Given the description of an element on the screen output the (x, y) to click on. 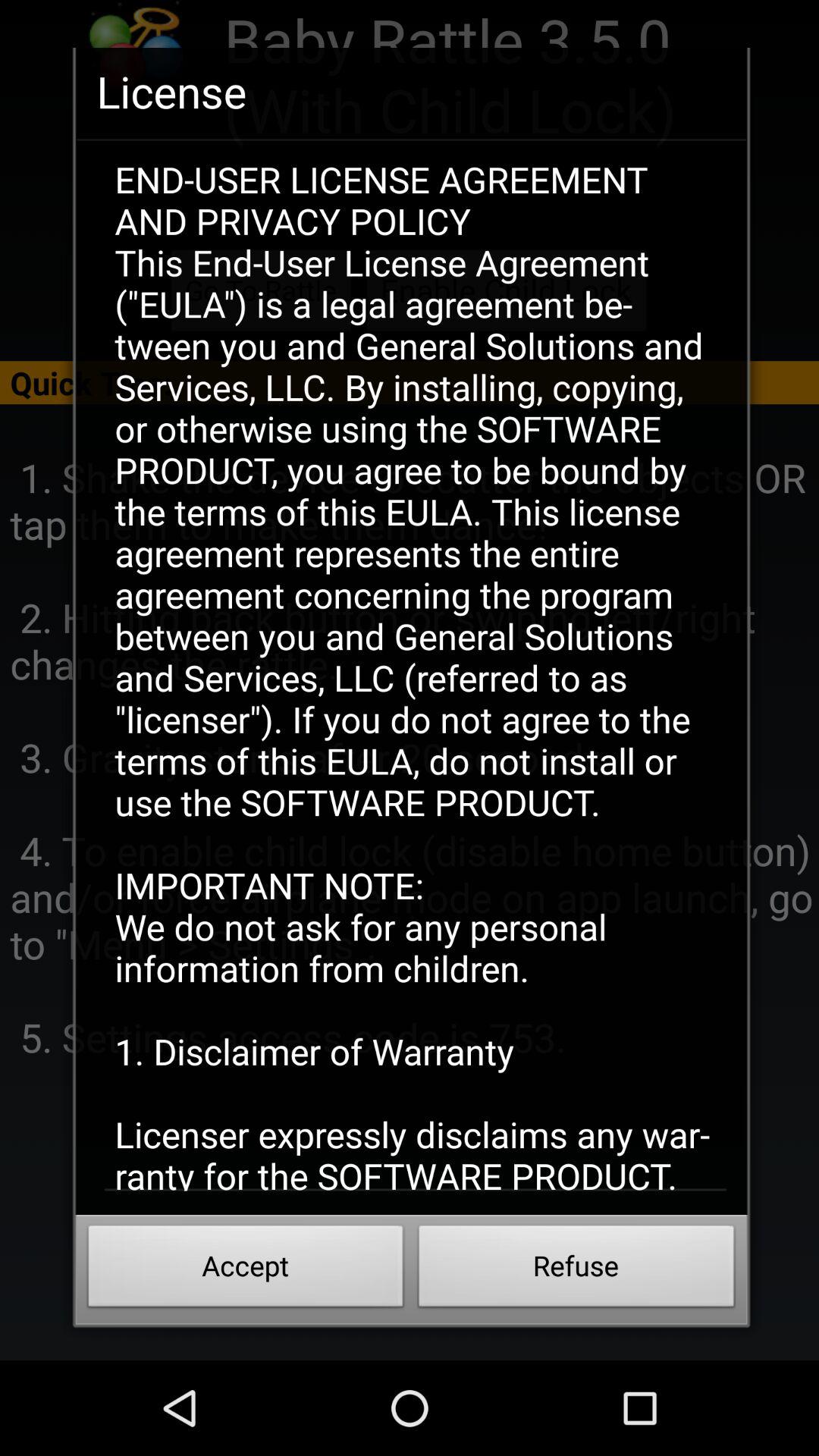
press the accept item (245, 1270)
